Given the description of an element on the screen output the (x, y) to click on. 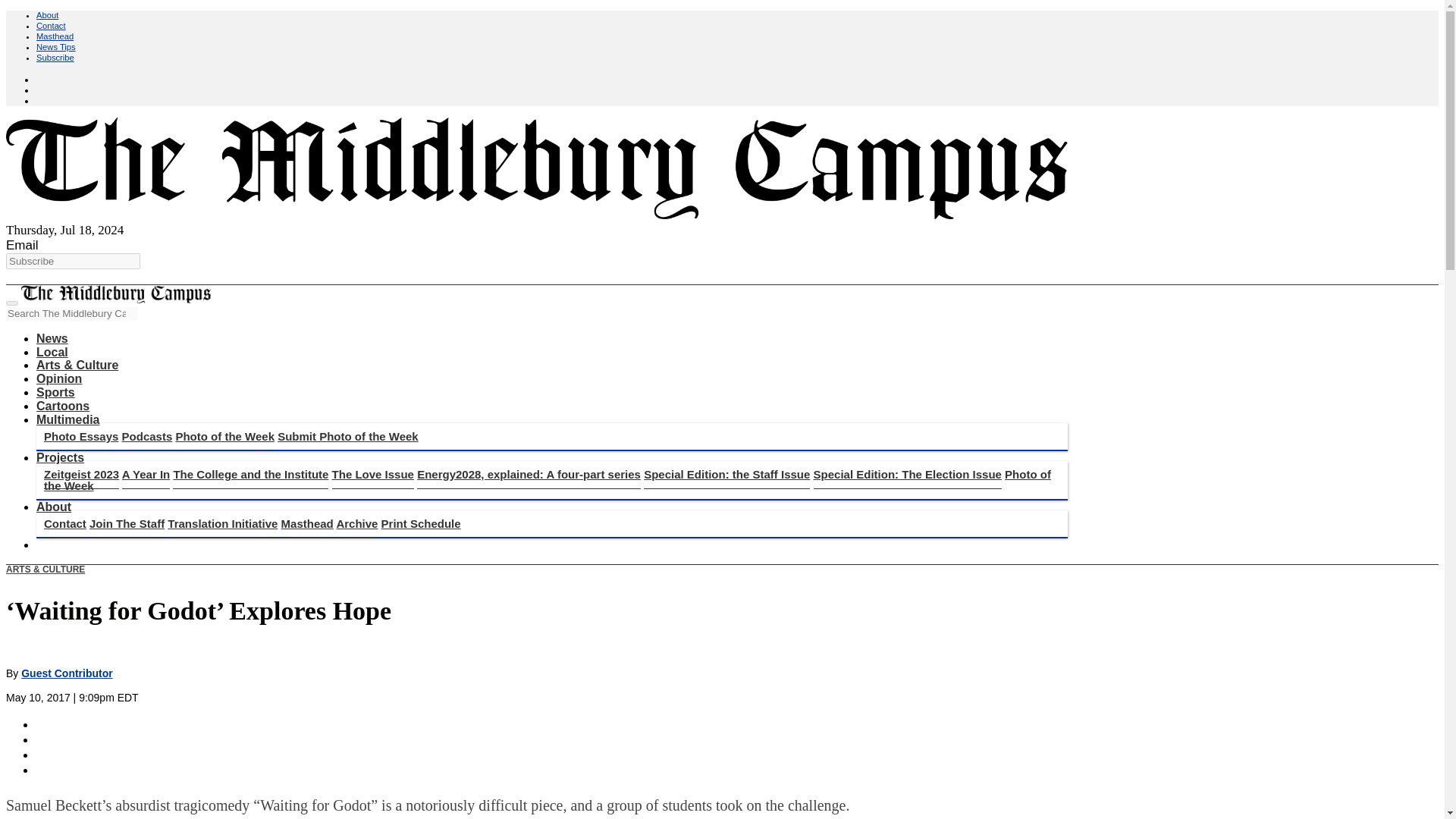
Podcasts (147, 436)
Contact (64, 523)
About (47, 14)
News (52, 338)
News Tips (55, 46)
About (53, 506)
Local (52, 351)
Contact (50, 25)
Energy2028, explained: A four-part series (528, 474)
Cartoons (62, 405)
News (52, 338)
Special Edition: The Election Issue (907, 474)
Opinion (58, 378)
Photo Essays (80, 436)
The College and the Institute (251, 474)
